Given the description of an element on the screen output the (x, y) to click on. 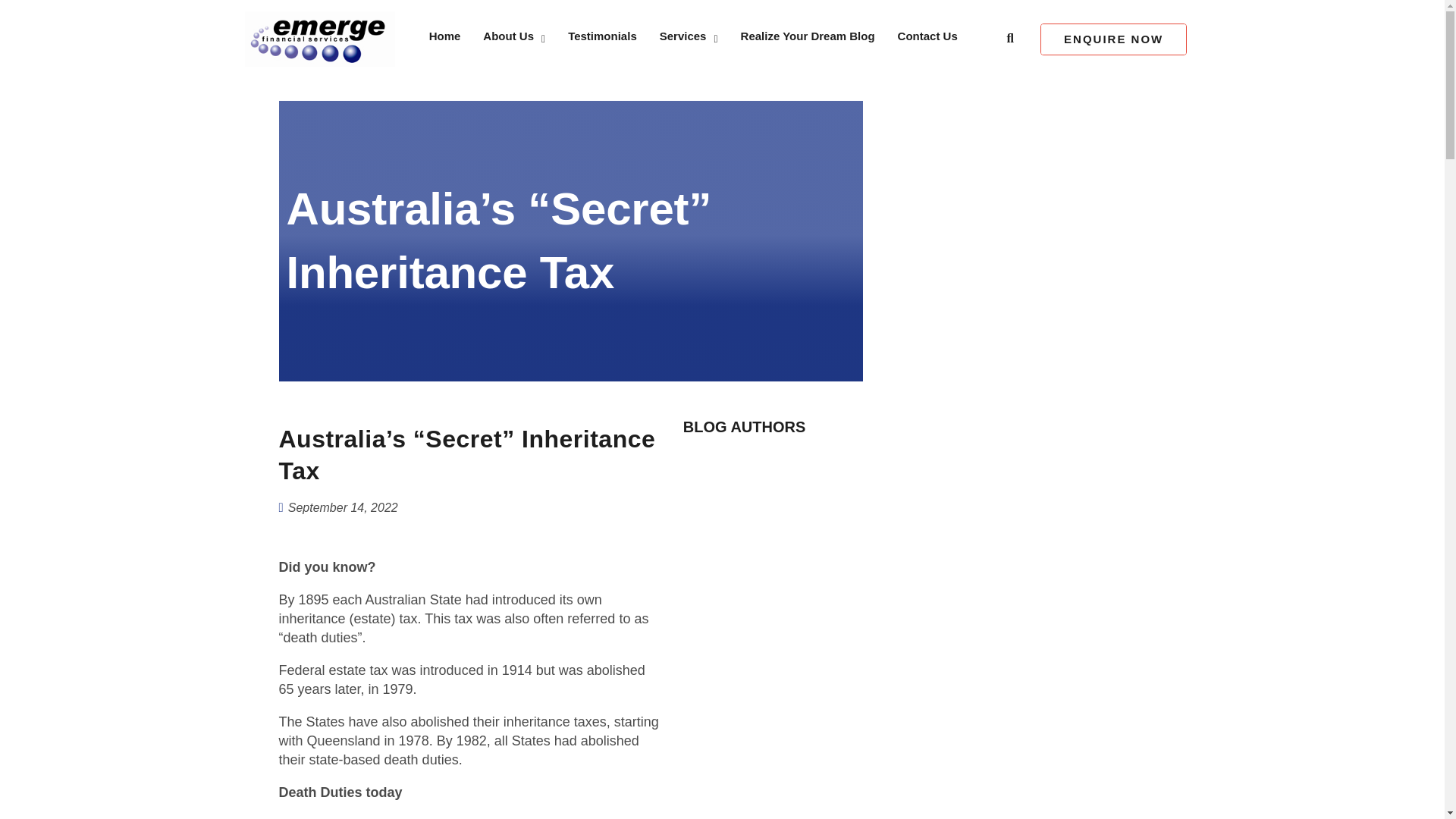
About Us (513, 38)
September 14, 2022 (342, 507)
Realize Your Dream Blog (807, 38)
Testimonials (601, 38)
Contact Us (927, 38)
Services (688, 38)
Home (444, 38)
ENQUIRE NOW (1113, 39)
